Given the description of an element on the screen output the (x, y) to click on. 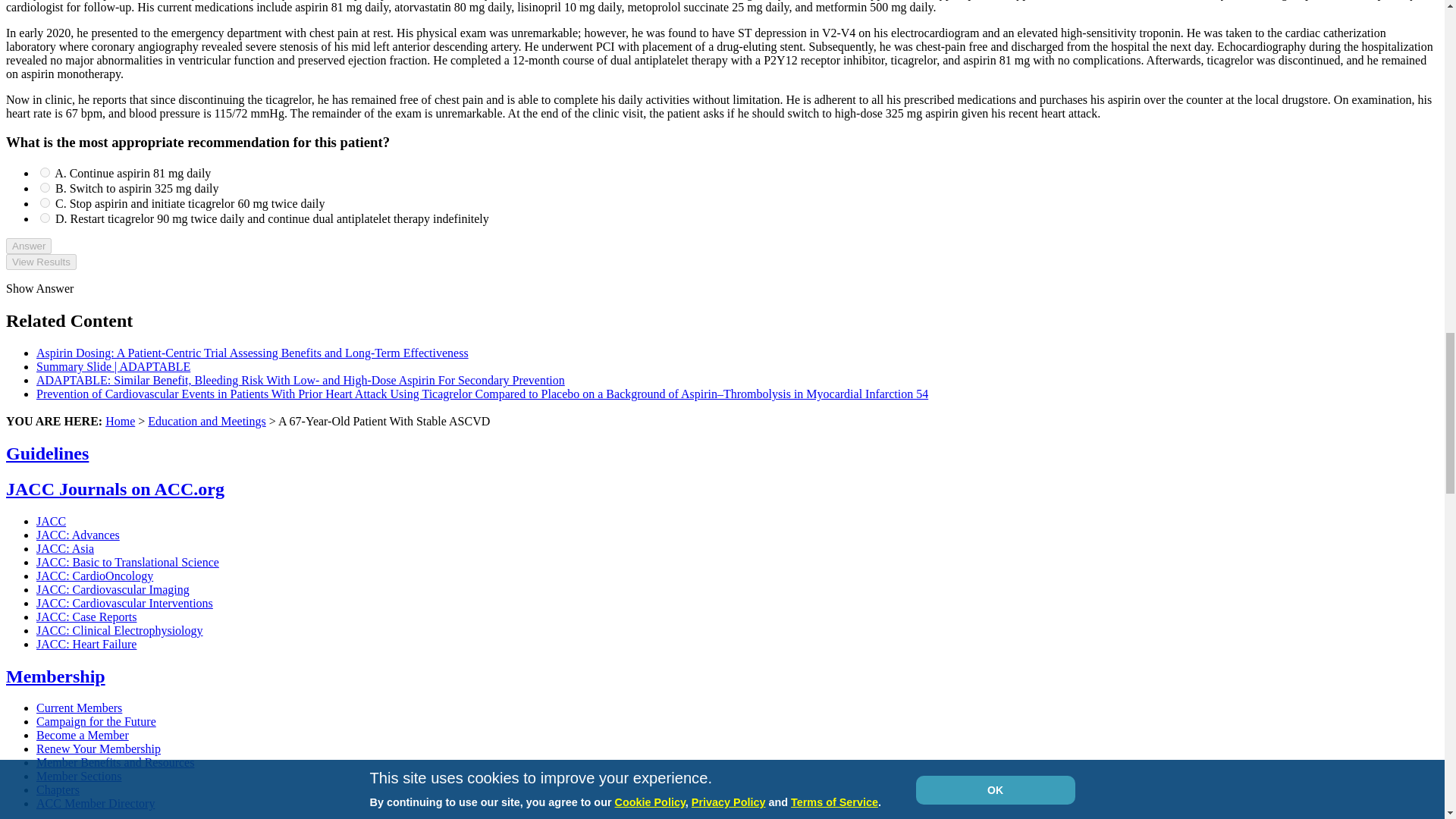
42c1e677-e030-497b-b04d-cf55b81f7b2e (44, 172)
JACC Asia (65, 548)
JACC Heart Failure (86, 644)
JACC: Cardiovascular Interventions (124, 603)
ac90228e-8230-4eaf-ae94-db79336ec86d (44, 187)
View Results (41, 261)
JACC: Cardiovascular Imaging (112, 589)
95af51b3-1b3e-4db6-a4ea-ac1216888bbb (44, 217)
Guidelines (46, 453)
Answer (27, 245)
JACC: Advances (77, 534)
4fb7cb16-7a48-4c9f-b866-5e406b36d508 (44, 203)
